Given the description of an element on the screen output the (x, y) to click on. 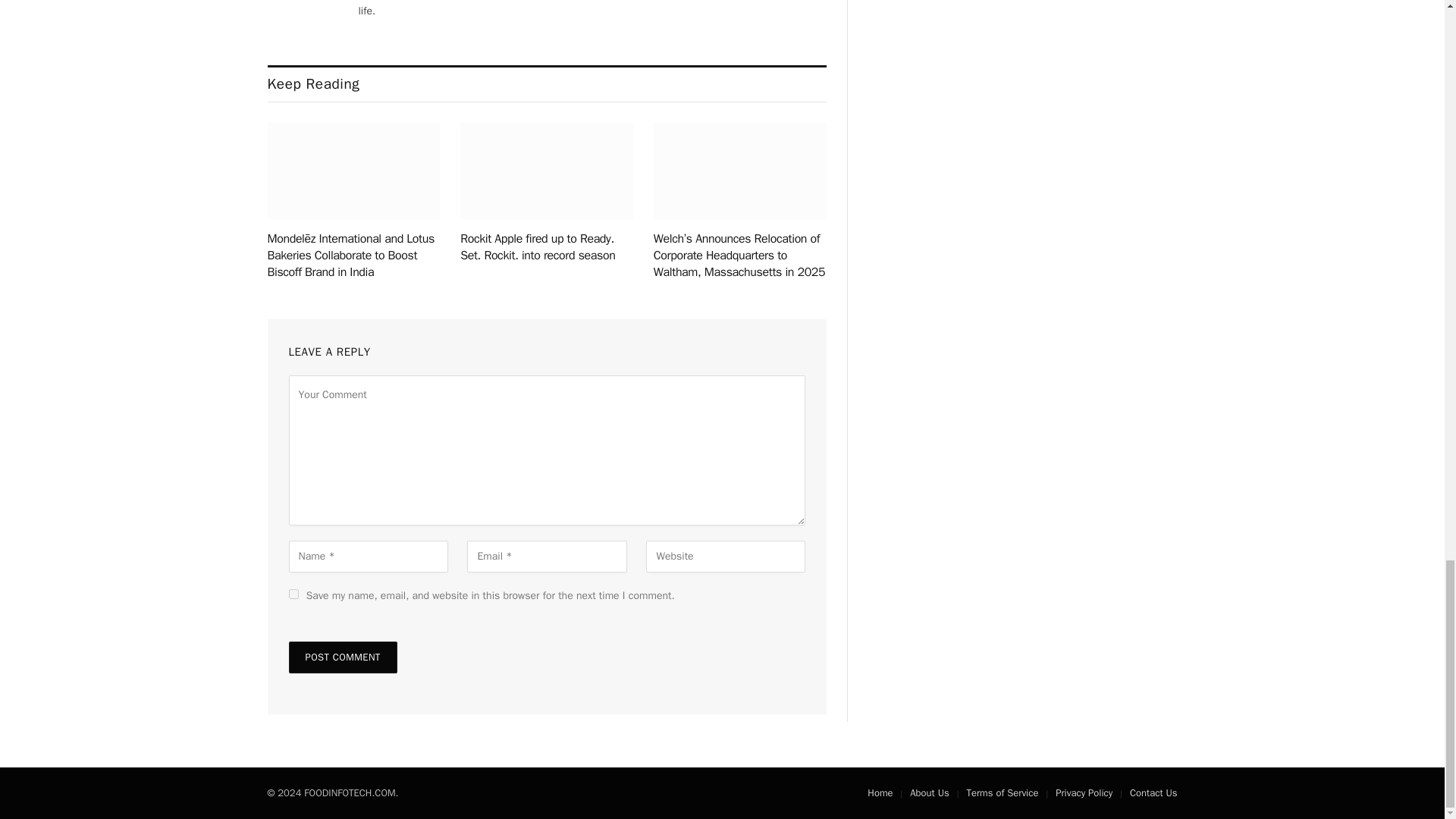
yes (293, 593)
Post Comment (342, 657)
